Given the description of an element on the screen output the (x, y) to click on. 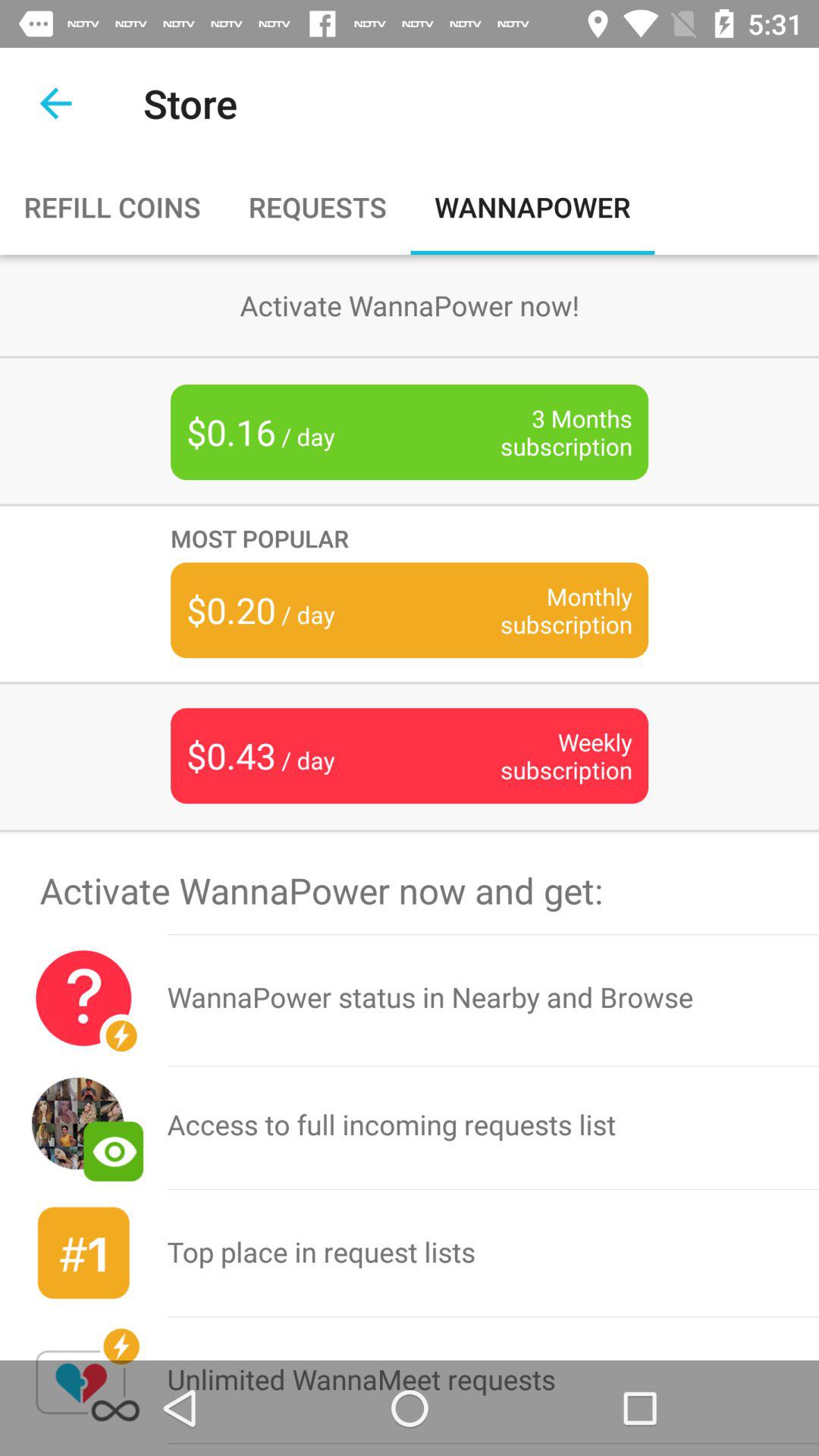
scroll to the top place in (493, 1252)
